Given the description of an element on the screen output the (x, y) to click on. 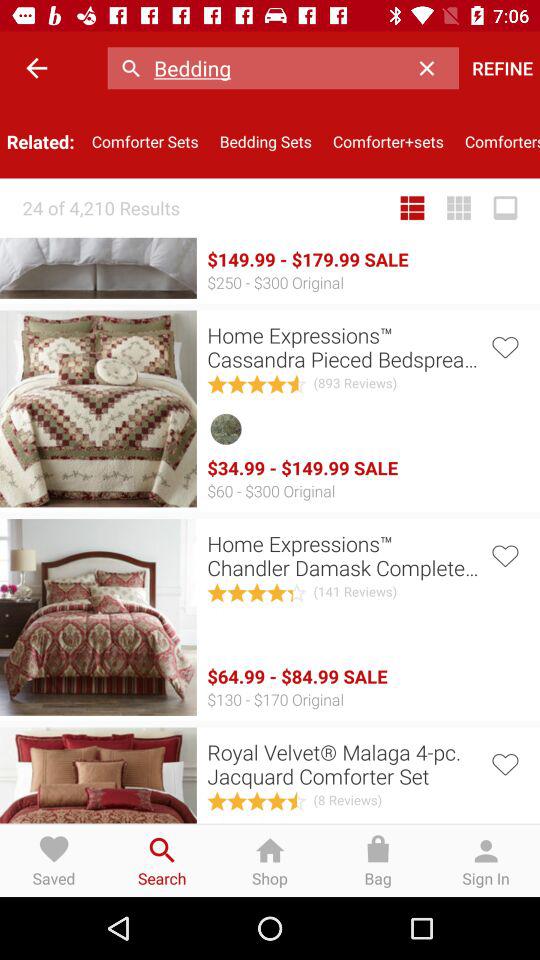
open the item below the comforter+sets item (459, 208)
